Given the description of an element on the screen output the (x, y) to click on. 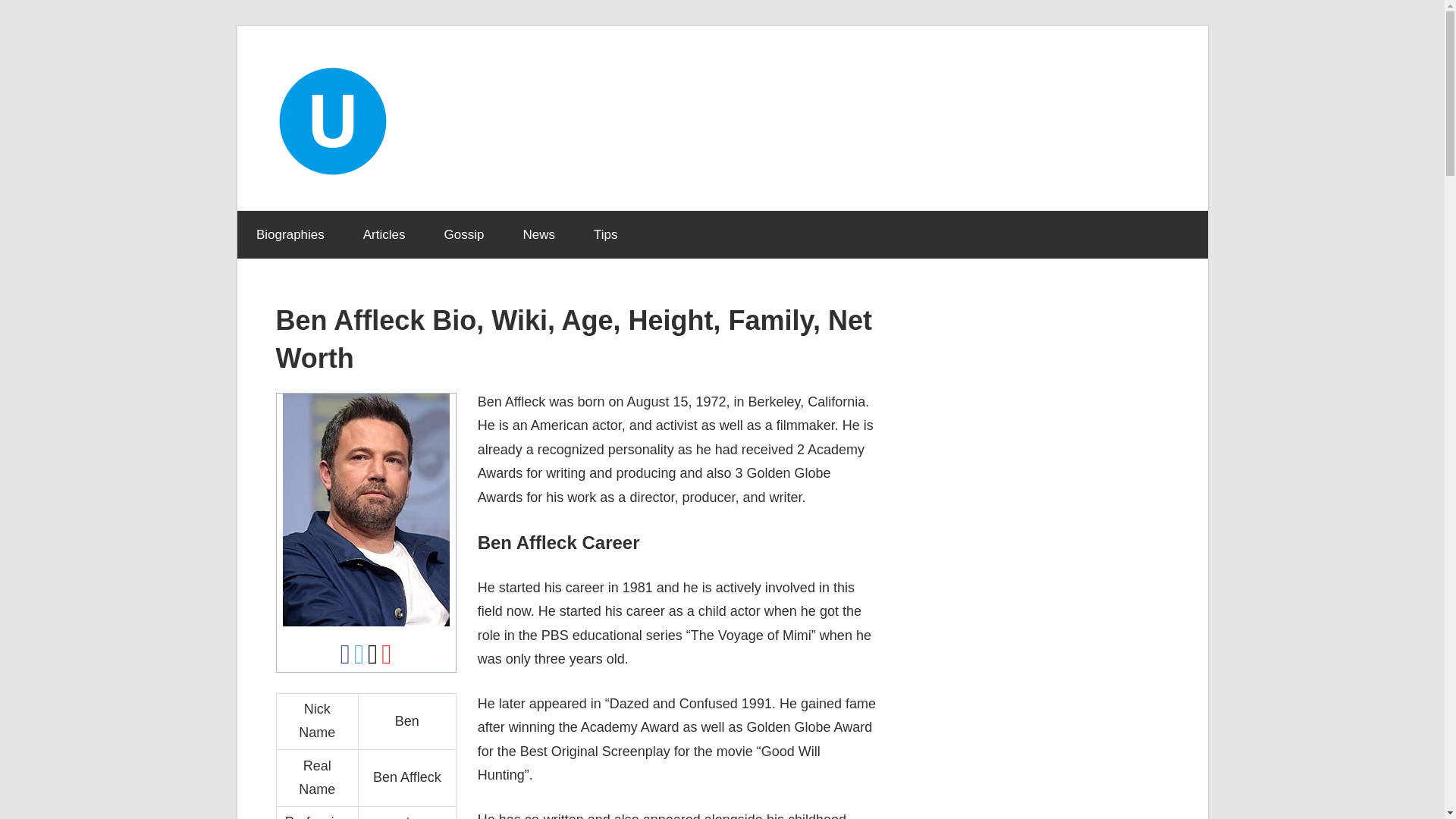
Biographies (289, 234)
Gossip (464, 234)
Articles (384, 234)
Tips (605, 234)
News (539, 234)
